Given the description of an element on the screen output the (x, y) to click on. 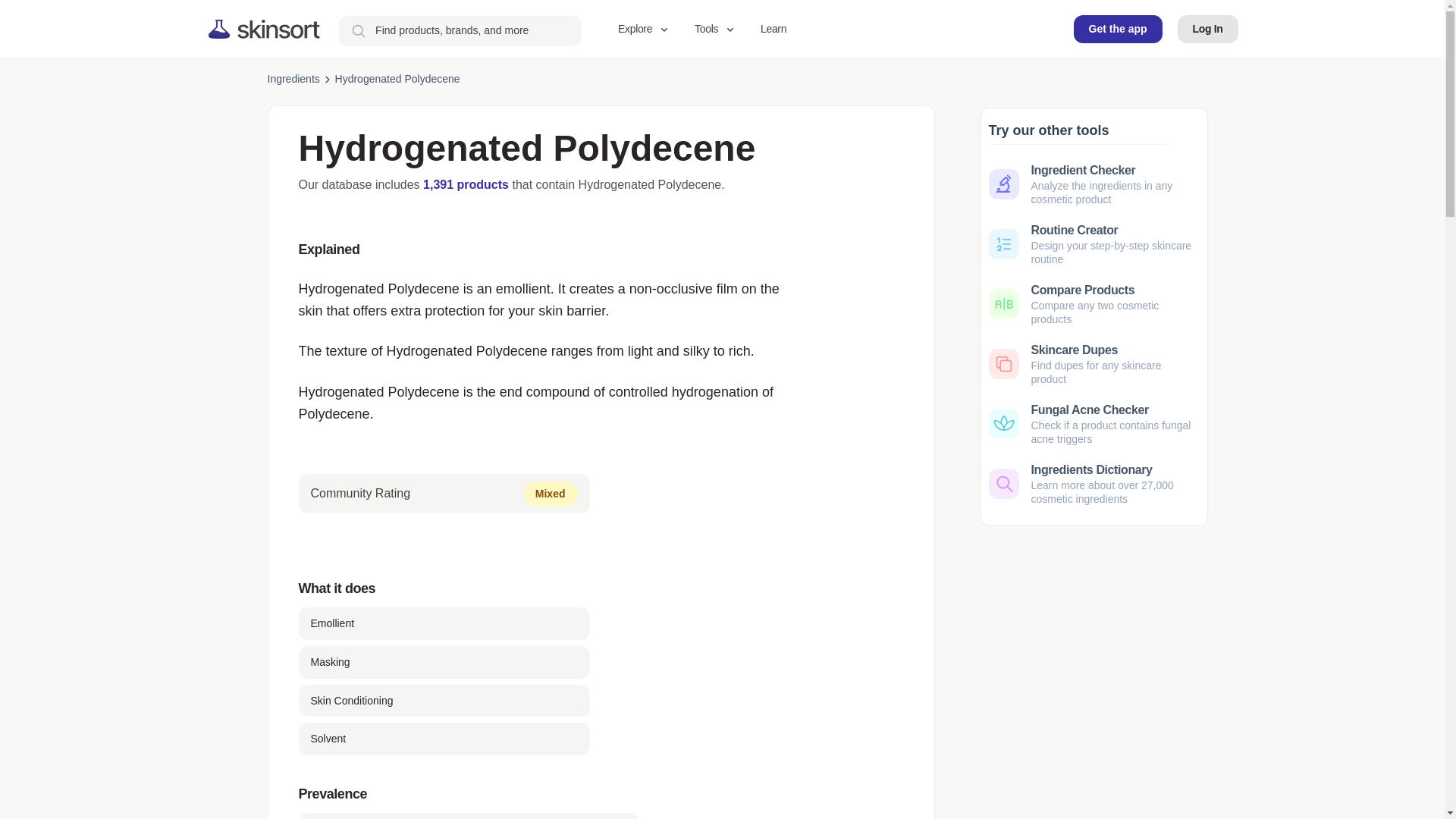
Explore (644, 29)
Log In (1208, 29)
Tools (715, 29)
Get the app (1117, 29)
Learn (773, 29)
